Given the description of an element on the screen output the (x, y) to click on. 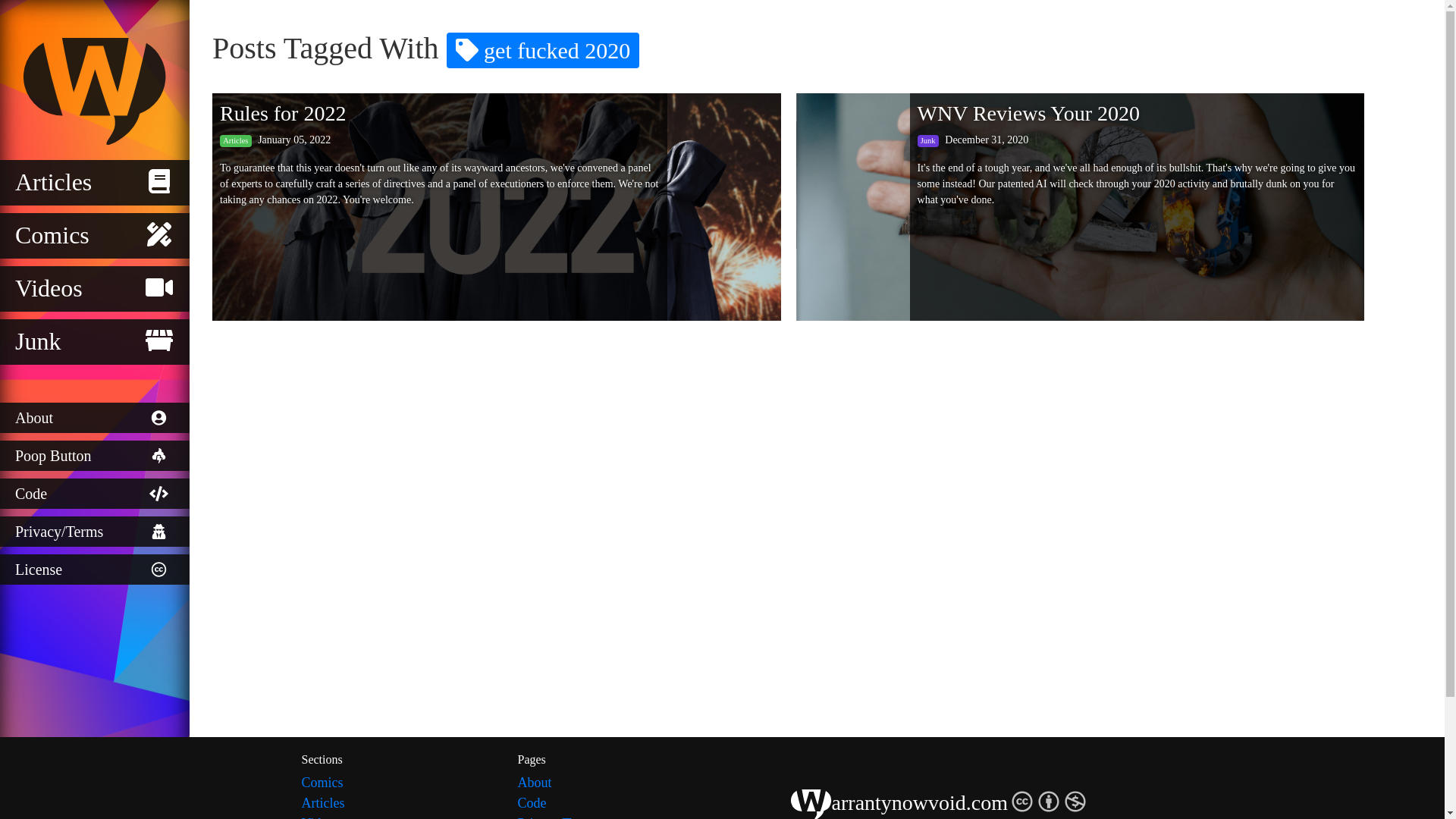
Rules for 2022 (282, 113)
About (613, 783)
Articles (398, 803)
Code (613, 803)
get fucked 2020 (543, 49)
Warranty Now Void (810, 804)
Poop Button (94, 455)
Videos (94, 289)
About (94, 417)
Warranty Now Void (94, 89)
Articles (94, 182)
Junk (94, 341)
WNV Reviews Your 2020 (1028, 113)
Comics (94, 235)
Warranty Now Void (94, 90)
